Given the description of an element on the screen output the (x, y) to click on. 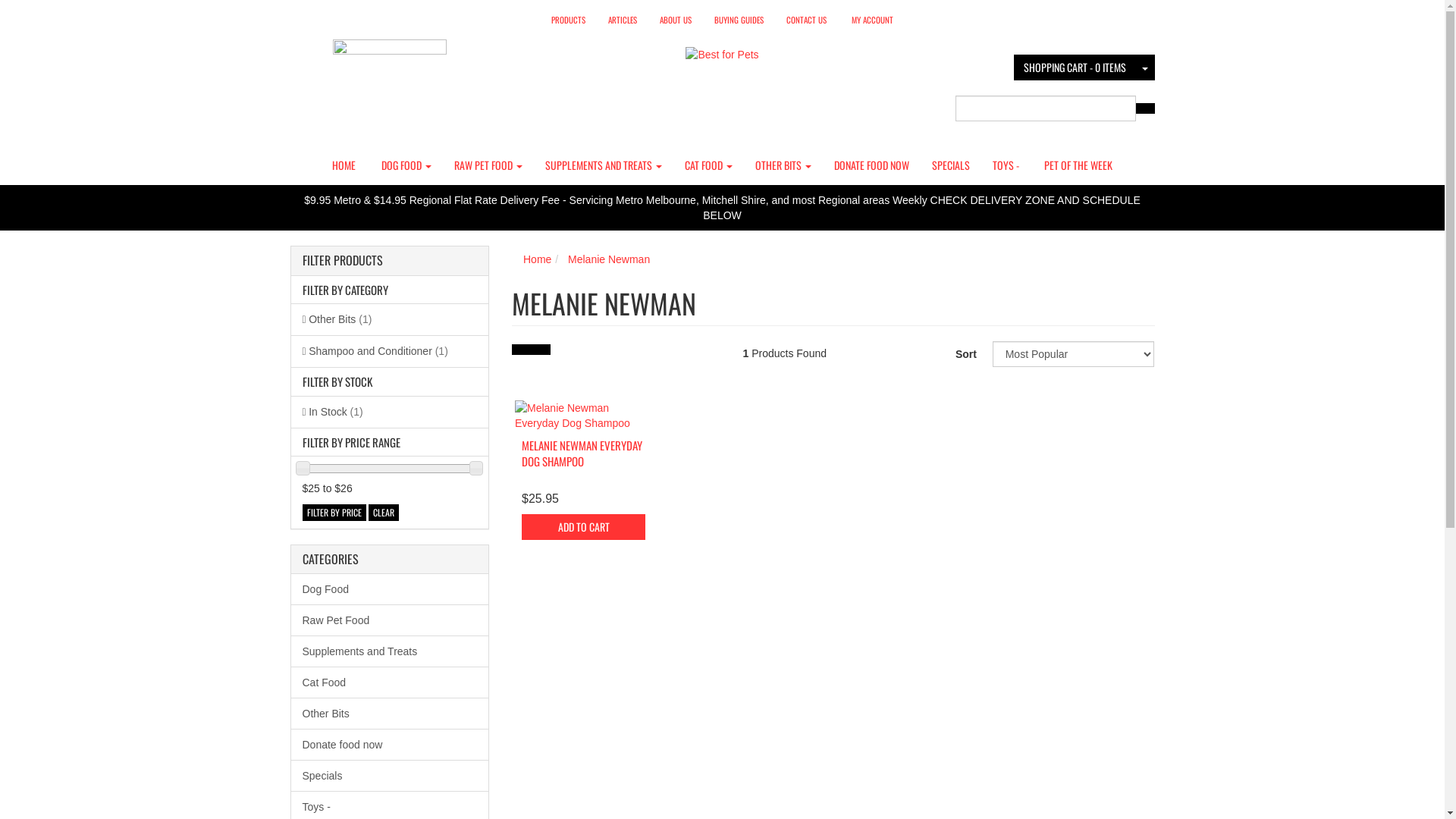
DOG FOOD Element type: text (406, 165)
ARTICLES Element type: text (622, 19)
CLEAR Element type: text (383, 512)
MELANIE NEWMAN EVERYDAY DOG SHAMPOO Element type: text (581, 452)
SUPPLEMENTS AND TREATS Element type: text (603, 165)
ABOUT US Element type: text (675, 19)
ADD TO CART Element type: text (583, 526)
Raw Pet Food Element type: text (390, 620)
FILTER PRODUCTS Element type: text (388, 260)
Melanie Newman Element type: text (608, 259)
Shampoo and Conditioner (1) Element type: text (390, 351)
OTHER BITS Element type: text (782, 165)
BUYING GUIDES Element type: text (738, 19)
CONTACT US Element type: text (806, 19)
SPECIALS Element type: text (950, 165)
MY ACCOUNT Element type: text (872, 19)
HOME Element type: text (343, 165)
Search Element type: text (1144, 108)
PRODUCTS Element type: text (567, 19)
Other Bits (1) Element type: text (390, 319)
Supplements and Treats Element type: text (390, 651)
Dog Food Element type: text (390, 589)
Best for Pets Element type: hover (721, 49)
DONATE FOOD NOW Element type: text (870, 165)
Home Element type: text (537, 259)
CAT FOOD Element type: text (708, 165)
SHOPPING CART - 0 ITEMS Element type: text (1074, 67)
Other Bits Element type: text (390, 713)
Specials Element type: text (390, 774)
Filter By Price Element type: text (333, 512)
PET OF THE WEEK Element type: text (1077, 165)
TOYS - Element type: text (1005, 165)
In Stock (1) Element type: text (390, 411)
RAW PET FOOD Element type: text (487, 165)
Donate food now Element type: text (390, 743)
Cat Food Element type: text (390, 682)
